Given the description of an element on the screen output the (x, y) to click on. 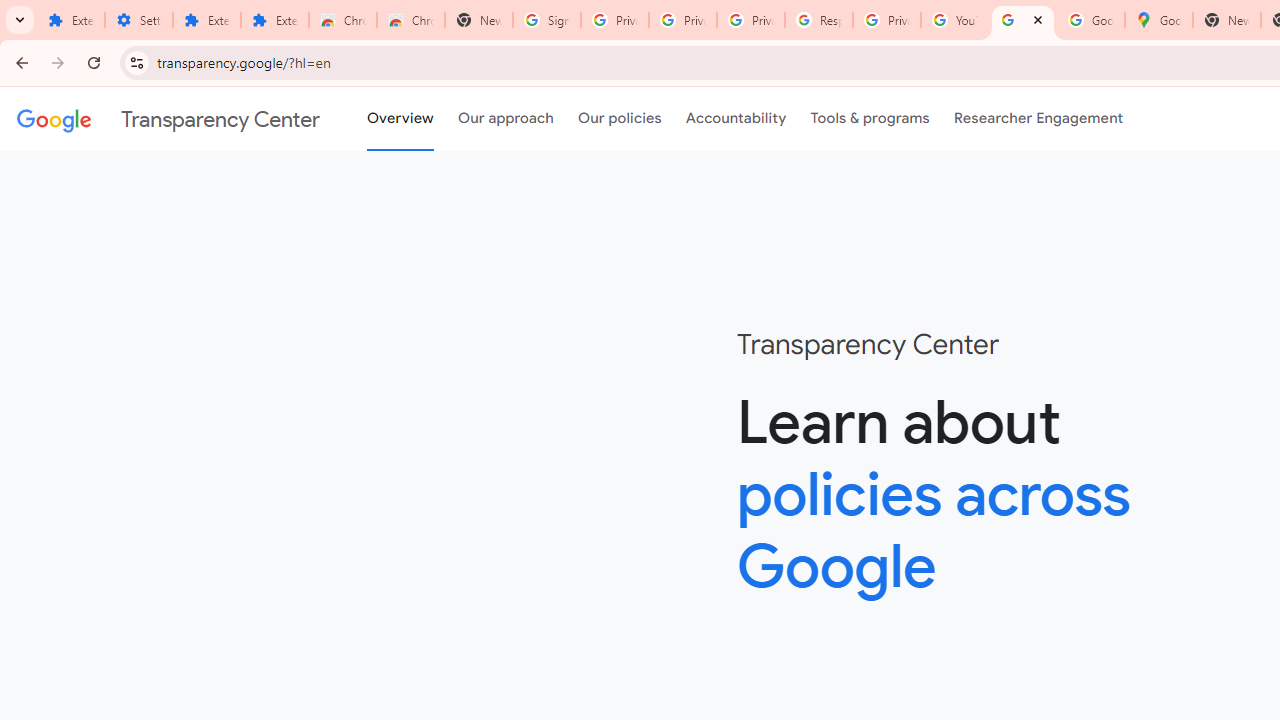
YouTube (954, 20)
New Tab (479, 20)
Transparency Center (167, 119)
Chrome Web Store - Themes (411, 20)
Tools & programs (869, 119)
